Given the description of an element on the screen output the (x, y) to click on. 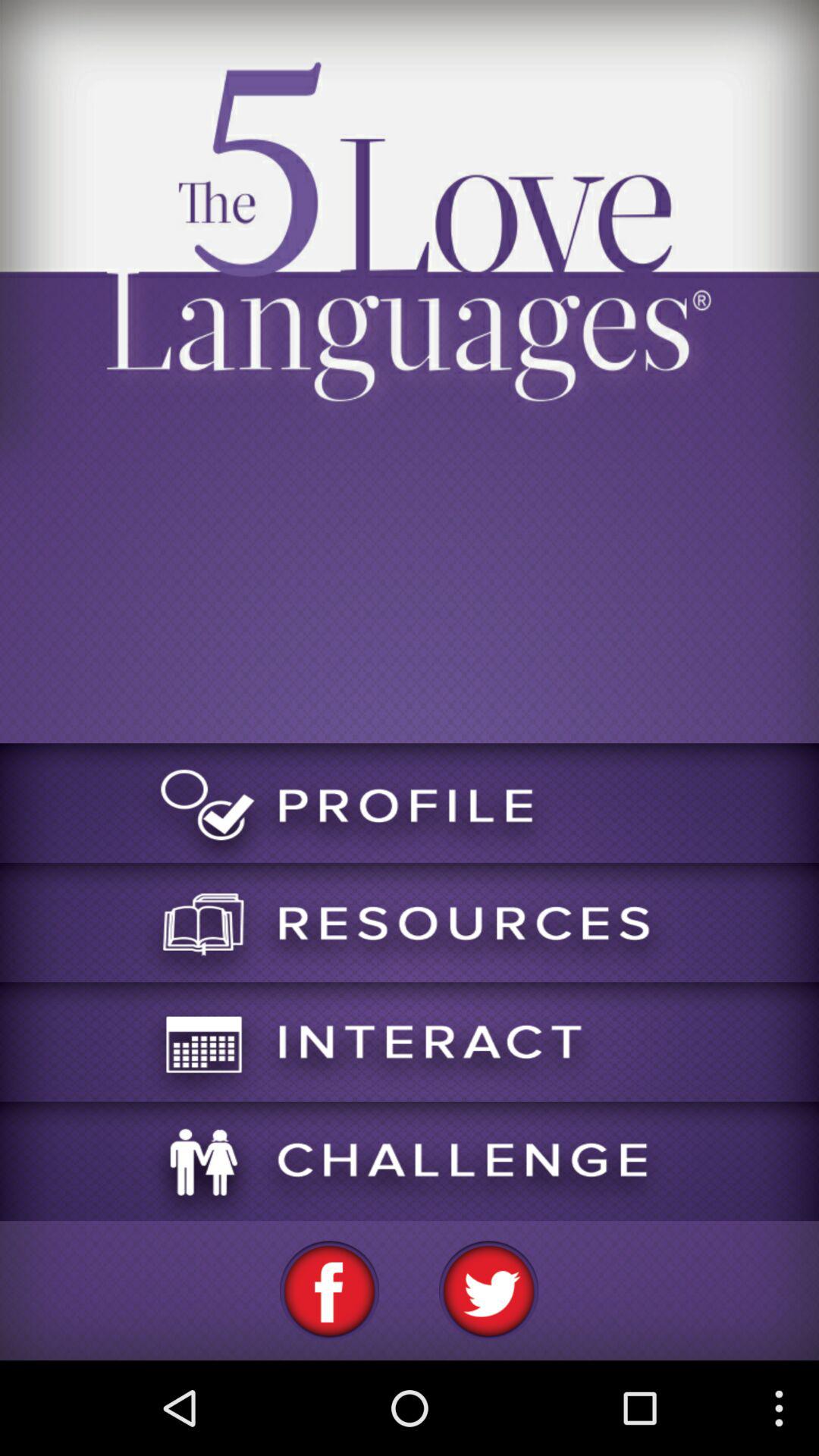
interact with others (409, 1041)
